Given the description of an element on the screen output the (x, y) to click on. 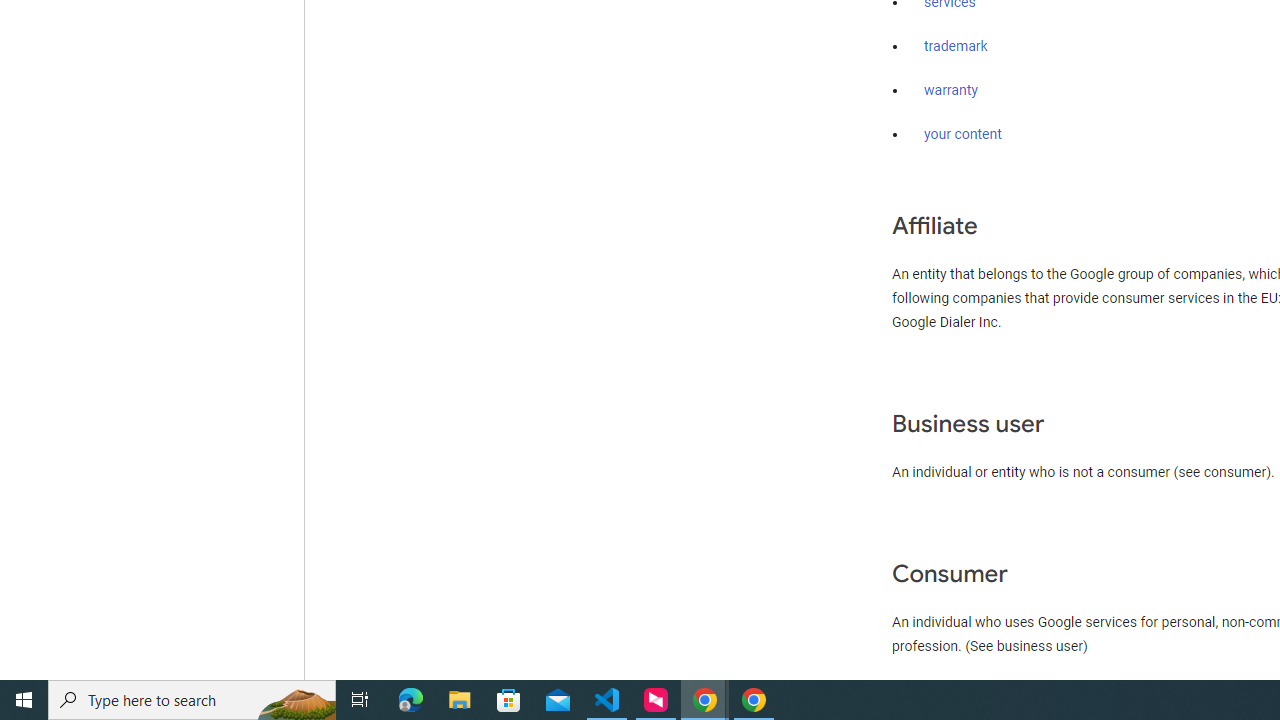
trademark (956, 47)
your content (963, 134)
warranty (950, 91)
